Given the description of an element on the screen output the (x, y) to click on. 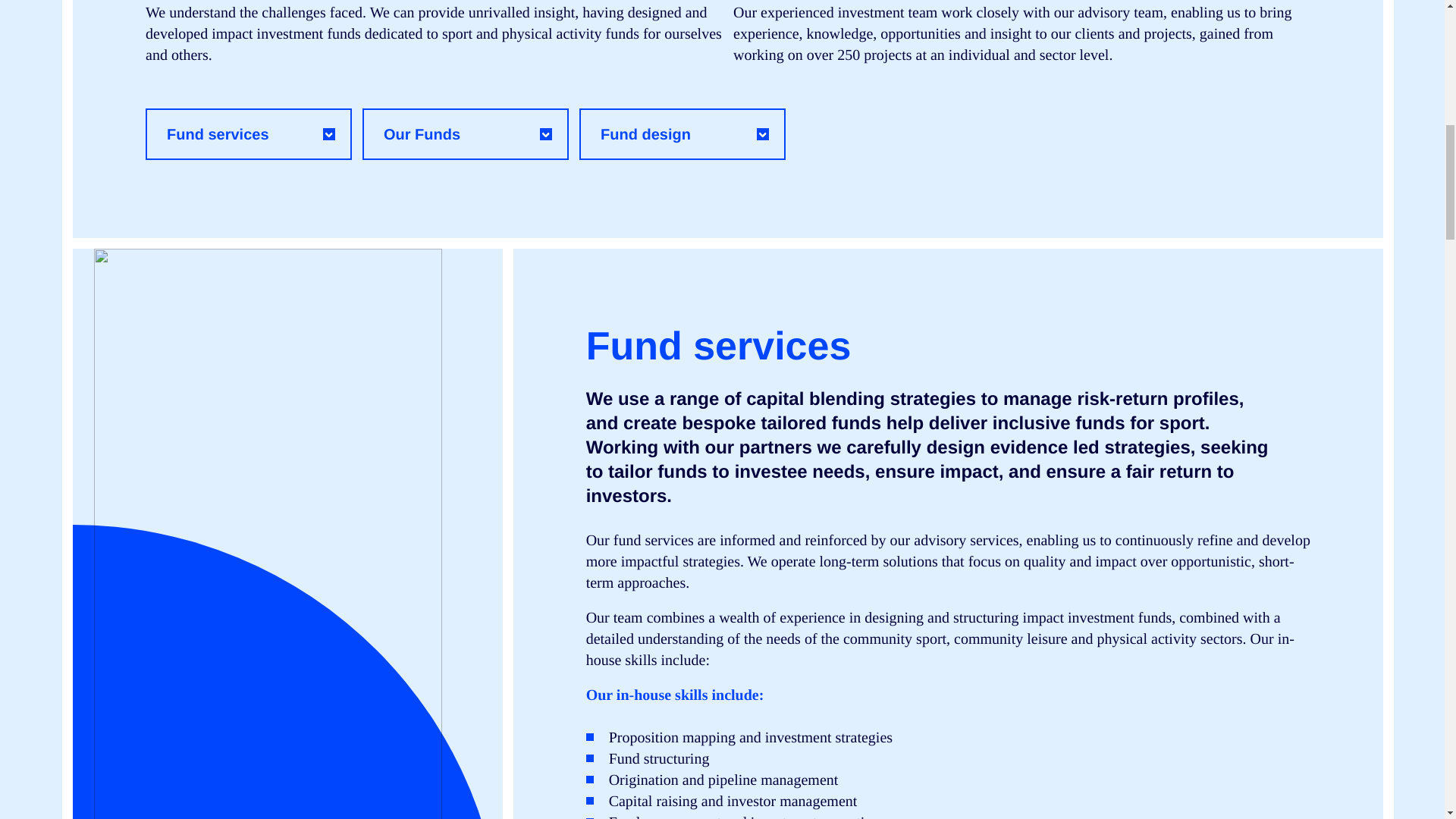
Fund design (682, 133)
Our Funds (465, 133)
Fund services (248, 133)
